Given the description of an element on the screen output the (x, y) to click on. 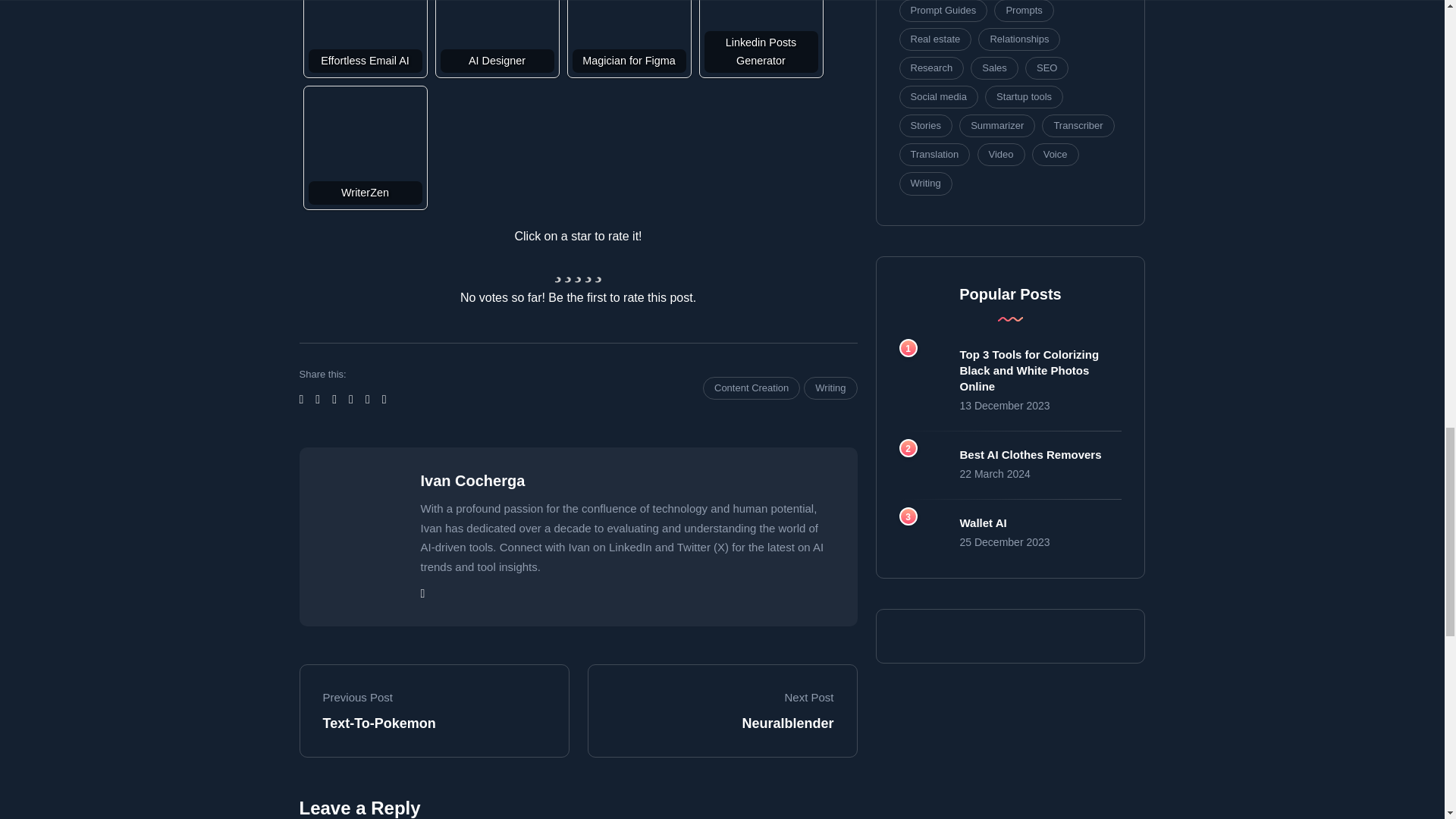
AI Designer (496, 36)
WriterZen (364, 122)
AI Designer (496, 11)
Effortless Email AI (364, 11)
Linkedin Posts Generator (759, 11)
Magician for Figma (628, 11)
WriterZen (364, 147)
Effortless Email AI (364, 36)
Linkedin Posts Generator (759, 36)
Magician for Figma (628, 36)
